Given the description of an element on the screen output the (x, y) to click on. 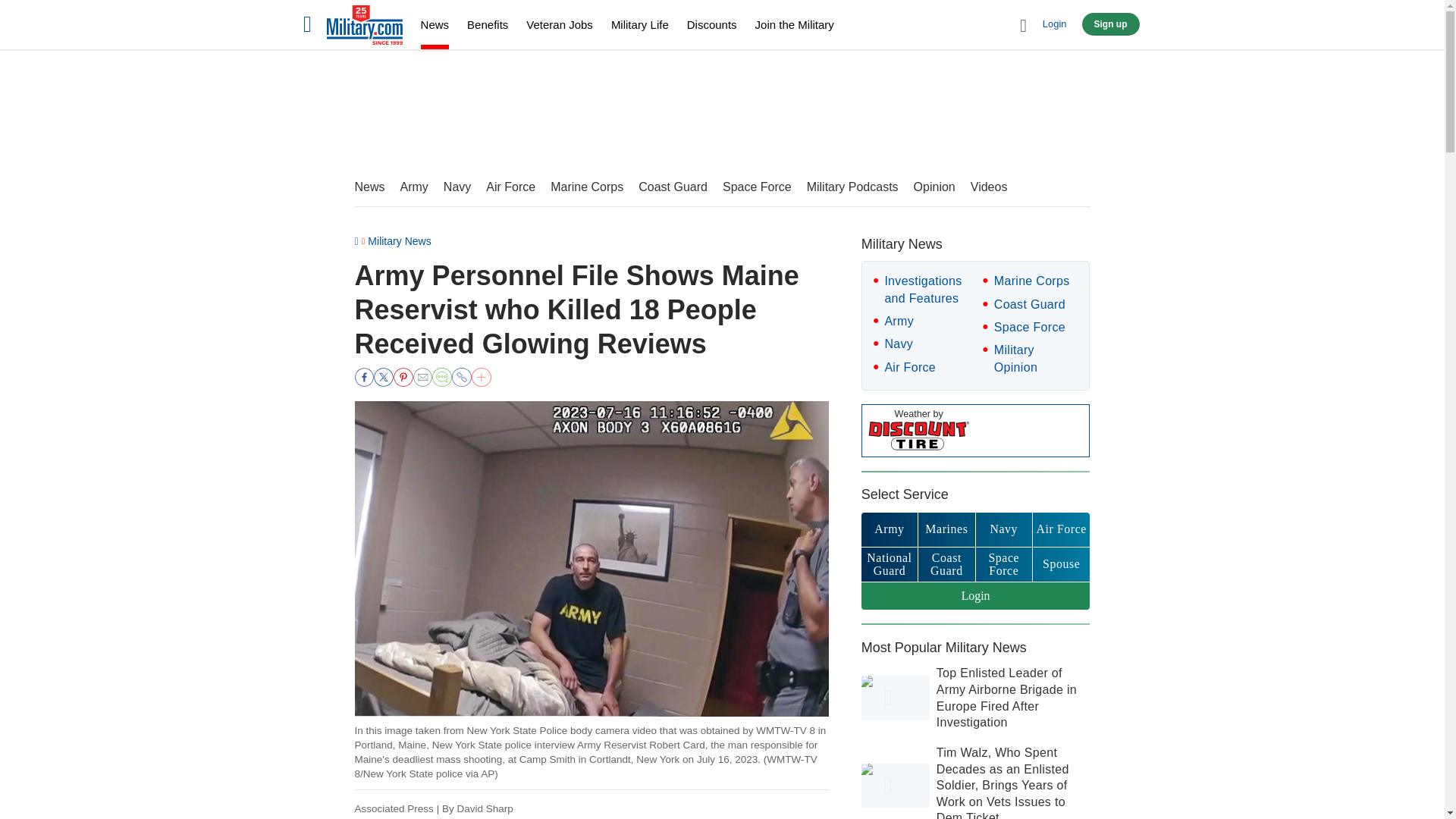
Space Force login link (1003, 564)
Login link (975, 596)
Home (364, 27)
Military Life (639, 24)
Marines login link (946, 529)
Army login link (889, 529)
Benefits (487, 24)
National Guard login link (889, 564)
Coast Guard login link (946, 564)
Air Force login link (1060, 529)
Veteran Jobs (558, 24)
Spouse login link (1060, 564)
Navy login link (1003, 529)
